Given the description of an element on the screen output the (x, y) to click on. 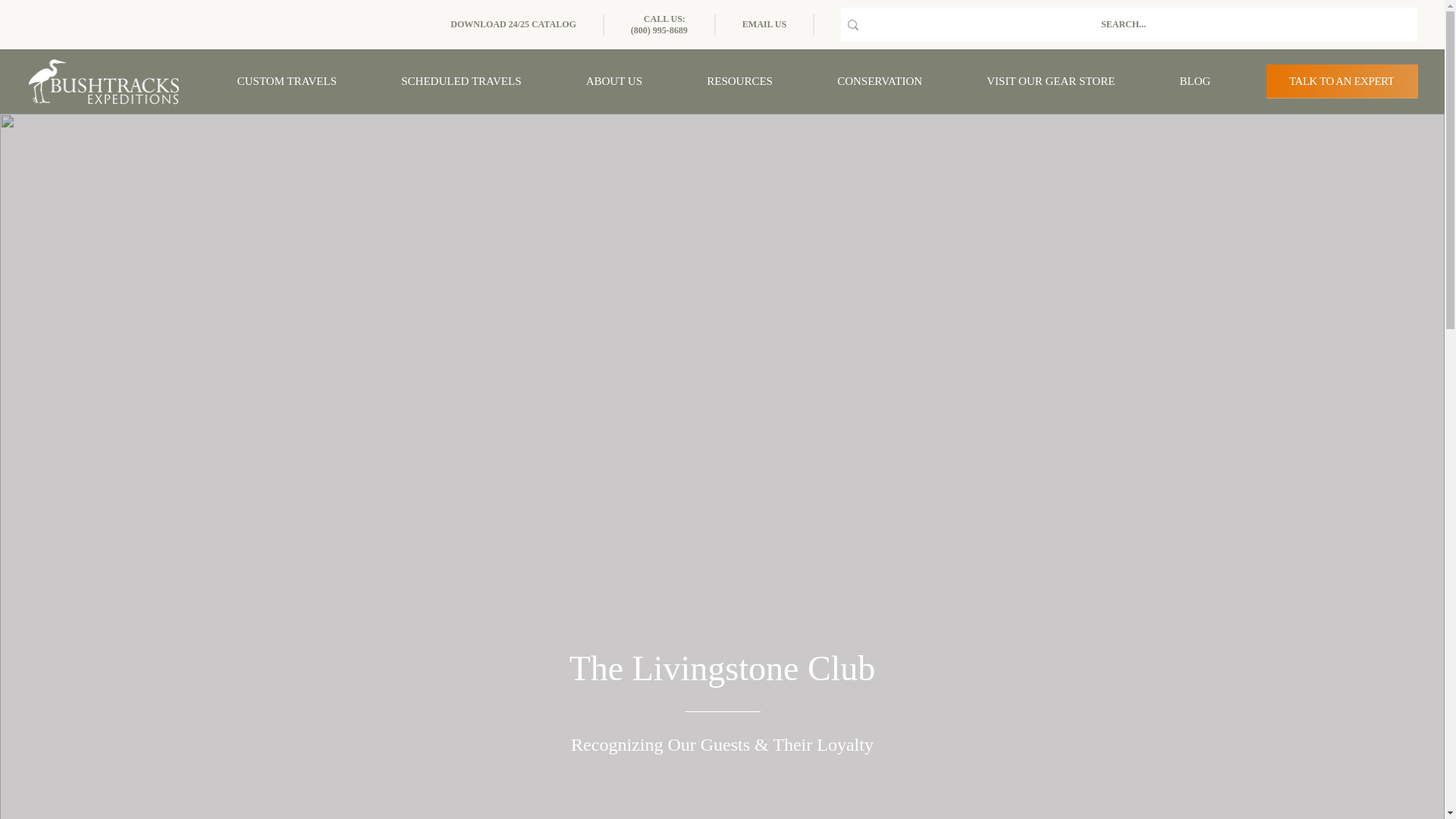
VISIT OUR GEAR STORE (1051, 81)
EMAIL US (764, 23)
TALK TO AN EXPERT (1342, 81)
BLOG (1195, 81)
